Given the description of an element on the screen output the (x, y) to click on. 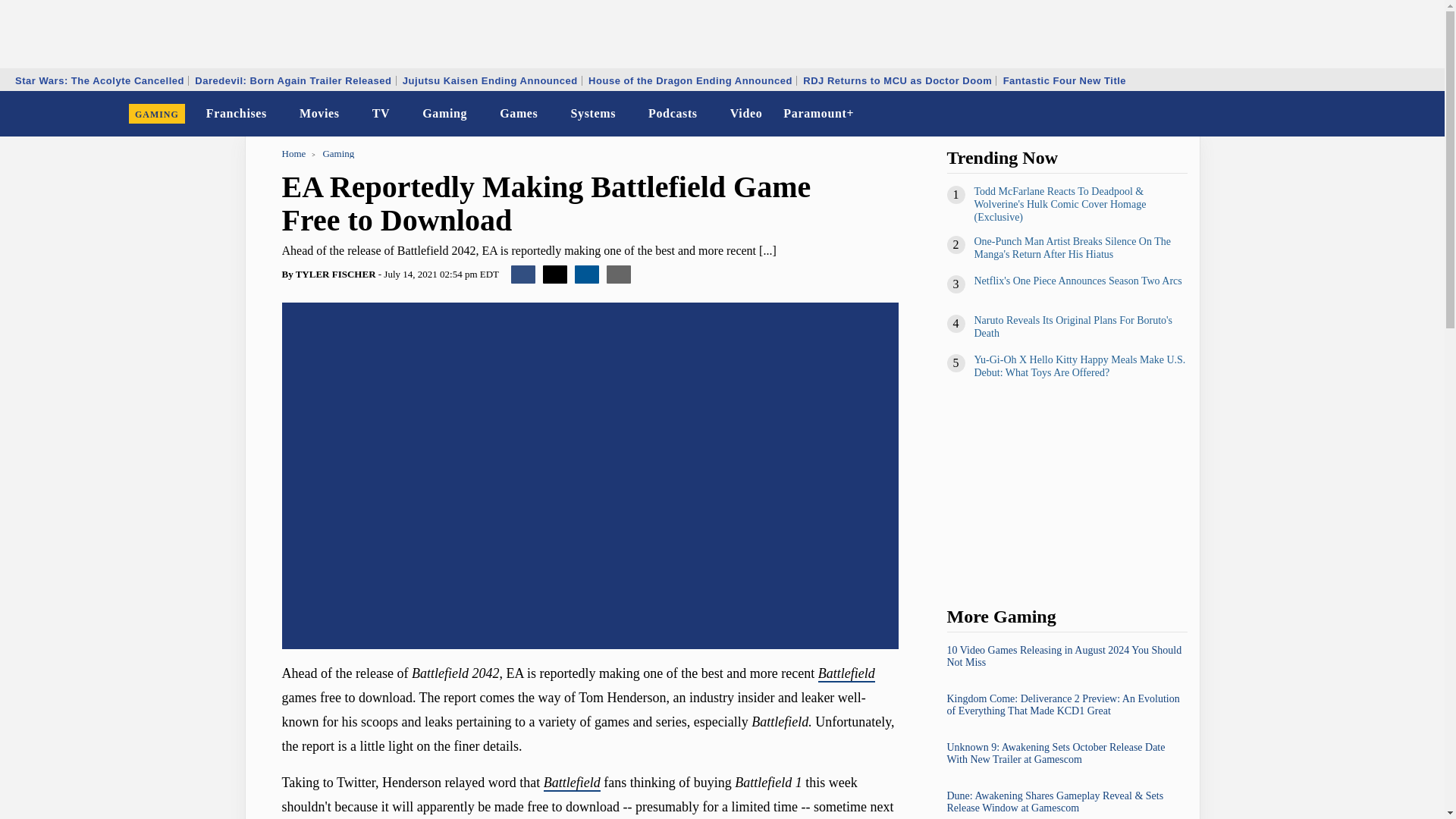
Fantastic Four New Title (1064, 80)
Movies (320, 113)
Search (1422, 114)
House of the Dragon Ending Announced (690, 80)
Star Wars: The Acolyte Cancelled (99, 80)
Dark Mode (1394, 113)
Jujutsu Kaisen Ending Announced (489, 80)
RDJ Returns to MCU as Doctor Doom (897, 80)
Daredevil: Born Again Trailer Released (292, 80)
Gaming (444, 113)
